Given the description of an element on the screen output the (x, y) to click on. 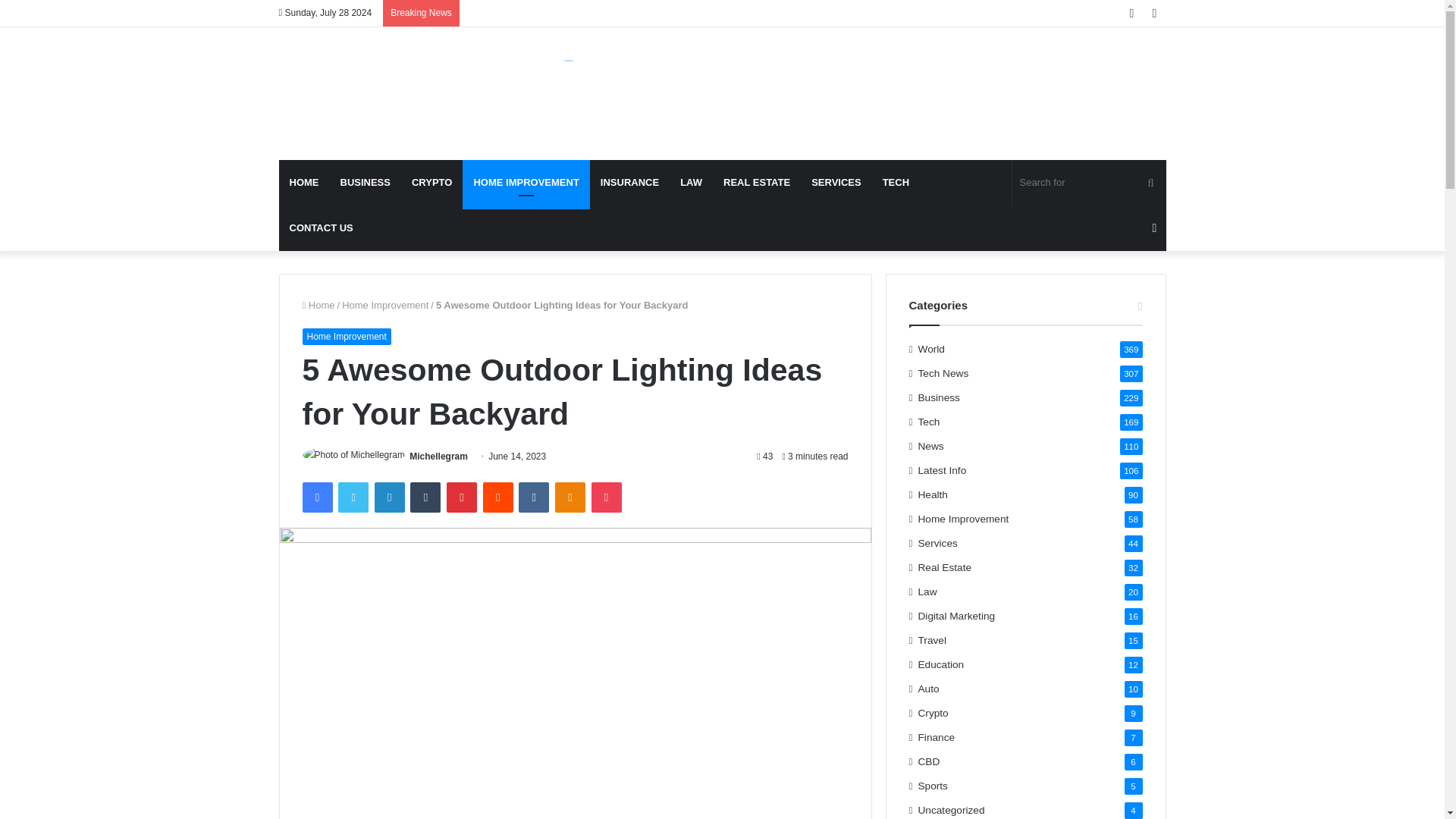
Reddit (498, 497)
Search for (1088, 182)
Random Article (1154, 227)
Tumblr (425, 497)
Pocket (606, 497)
Twitter (352, 497)
SERVICES (836, 182)
Search for (1150, 182)
Odnoklassniki (569, 497)
Pinterest (461, 497)
Home Improvement (385, 305)
VKontakte (533, 497)
LinkedIn (389, 497)
Home (317, 305)
Michellegram (438, 456)
